Given the description of an element on the screen output the (x, y) to click on. 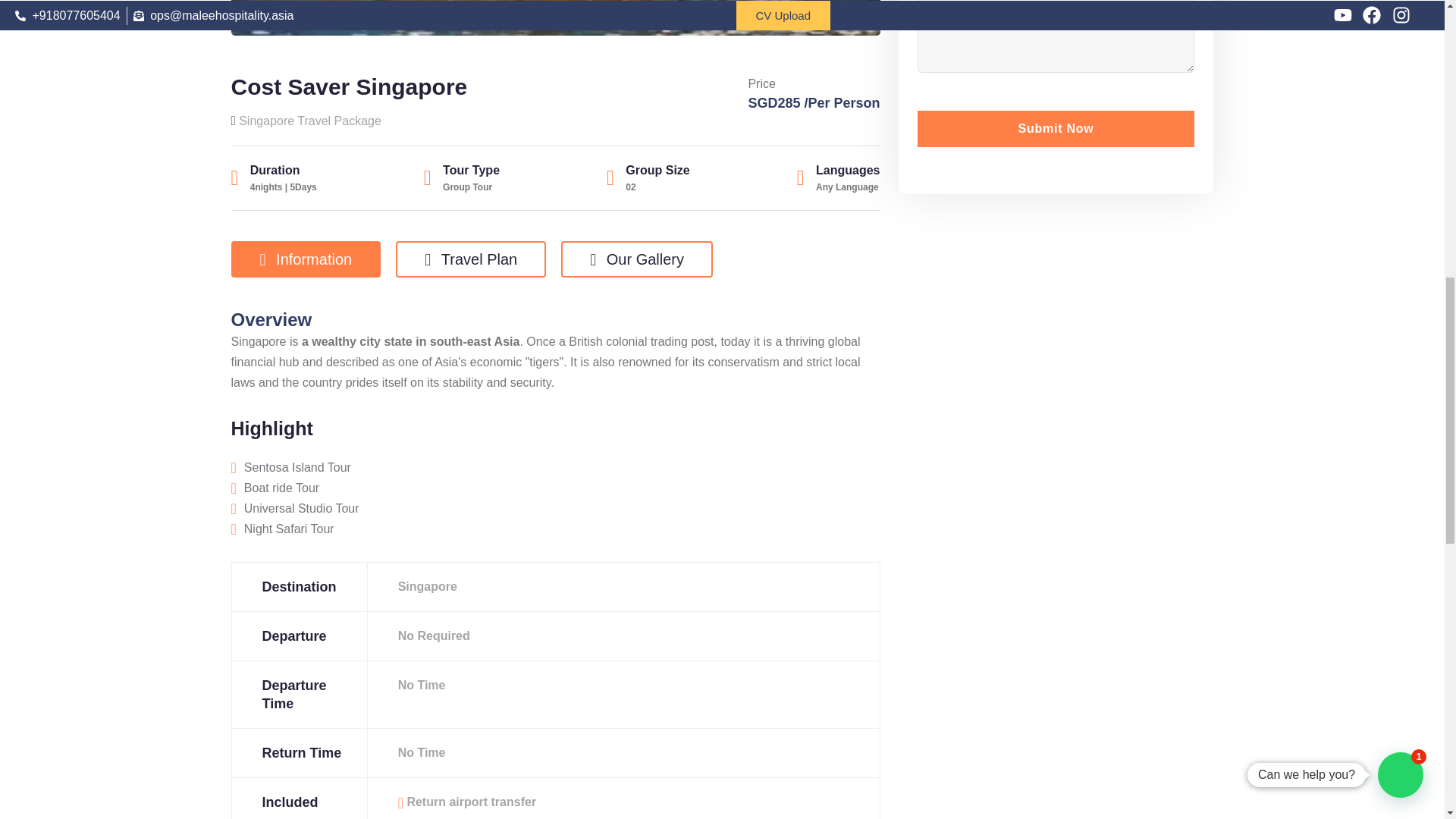
Submit Now (1056, 128)
